Given the description of an element on the screen output the (x, y) to click on. 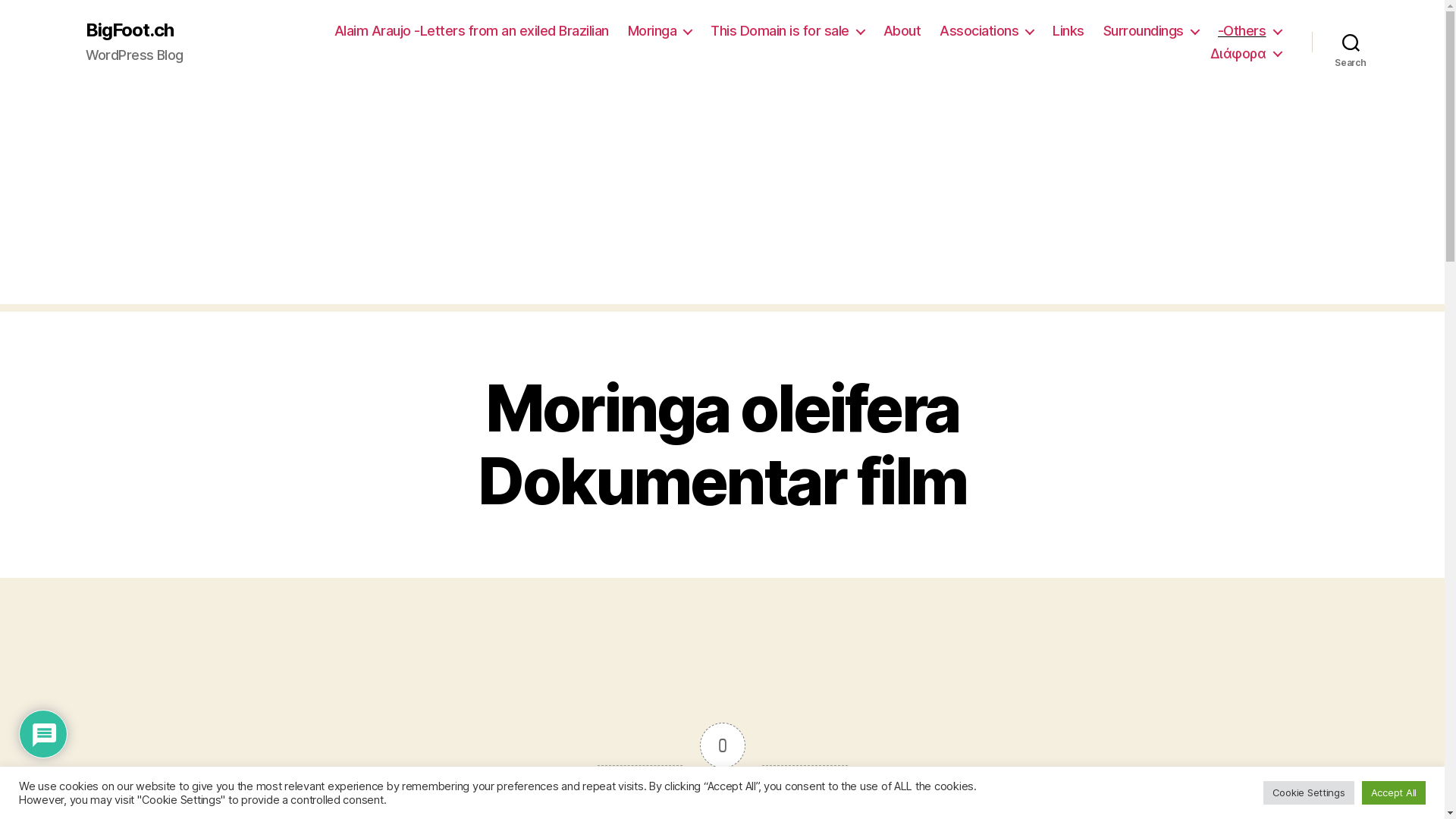
Surroundings Element type: text (1150, 30)
Advertisement Element type: hover (721, 197)
Moringa Element type: text (659, 30)
Alaim Araujo -Letters from an exiled Brazilian Element type: text (471, 30)
-Others Element type: text (1249, 30)
Accept All Element type: text (1393, 792)
This Domain is for sale Element type: text (787, 30)
Associations Element type: text (986, 30)
Links Element type: text (1068, 30)
Search Element type: text (1350, 42)
Cookie Settings Element type: text (1308, 792)
About Element type: text (902, 30)
BigFoot.ch Element type: text (128, 30)
